Given the description of an element on the screen output the (x, y) to click on. 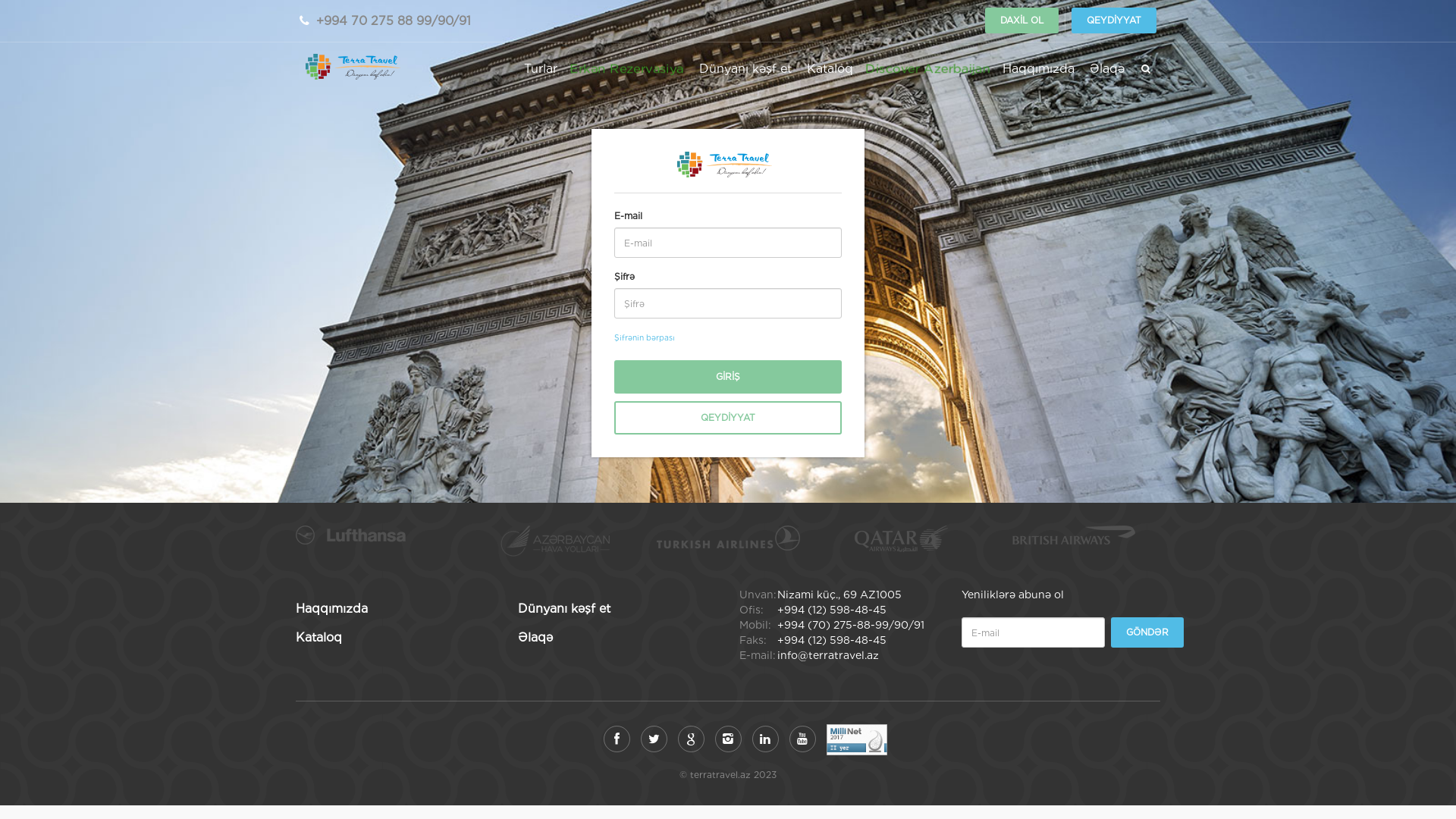
+994 70 275 88 99/90/91 Element type: text (393, 20)
QEYDIYYAT Element type: text (1113, 20)
DAXIL OL Element type: text (1021, 20)
Kataloq Element type: text (318, 637)
Turlar Element type: text (539, 74)
Terra Travel Element type: text (356, 66)
Discover Azerbaijan Element type: text (926, 74)
Kataloq Element type: text (829, 74)
